Given the description of an element on the screen output the (x, y) to click on. 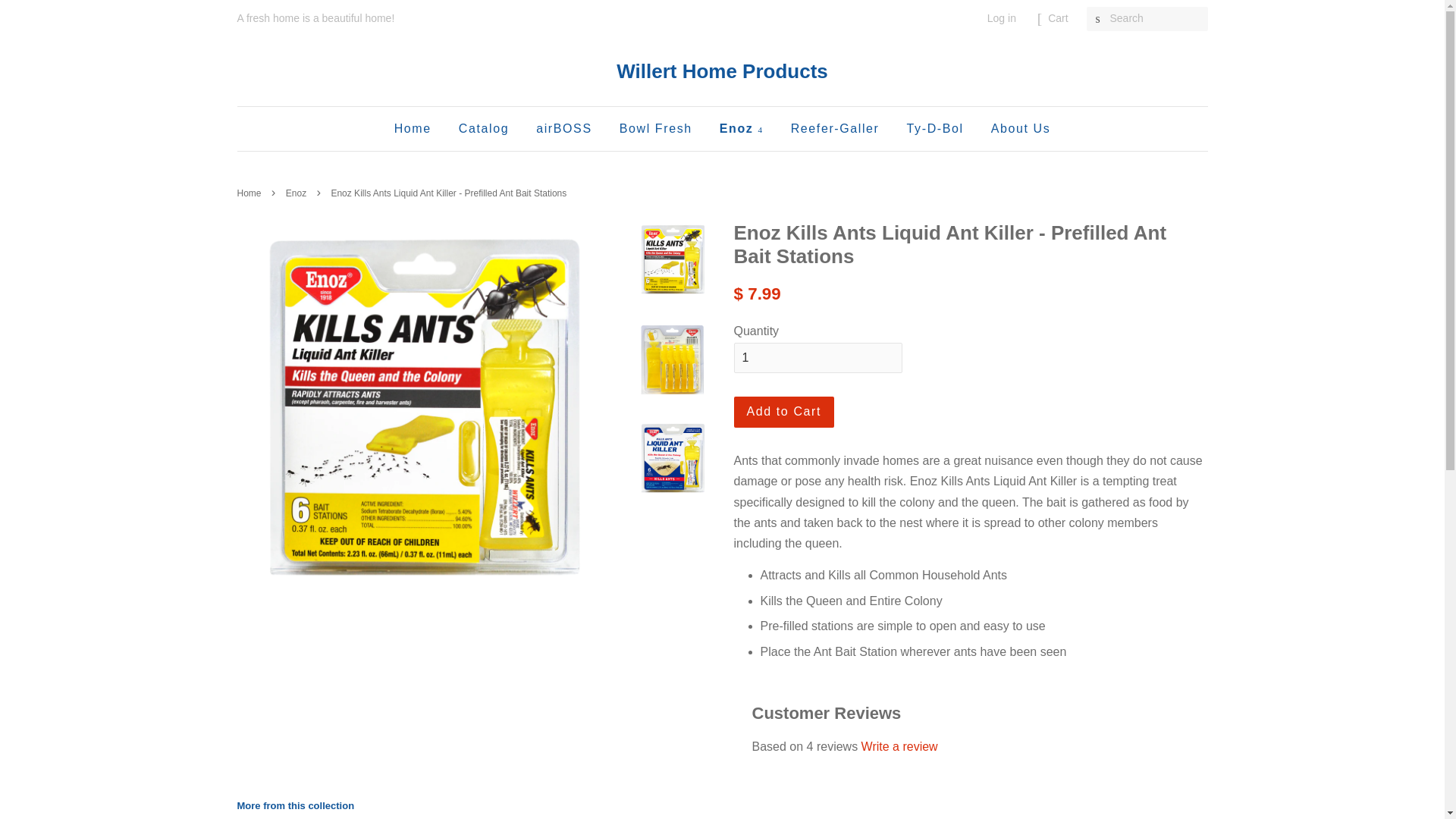
Enoz (297, 193)
About Us (1015, 128)
Add to Cart (783, 411)
Log in (1001, 18)
Enoz (740, 128)
Back to the frontpage (249, 193)
Write a review (899, 746)
Catalog (482, 128)
Reefer-Galler (834, 128)
Willert Home Products (722, 71)
airBOSS (563, 128)
Cart (1057, 18)
Ty-D-Bol (935, 128)
Home (418, 128)
Bowl Fresh (655, 128)
